Given the description of an element on the screen output the (x, y) to click on. 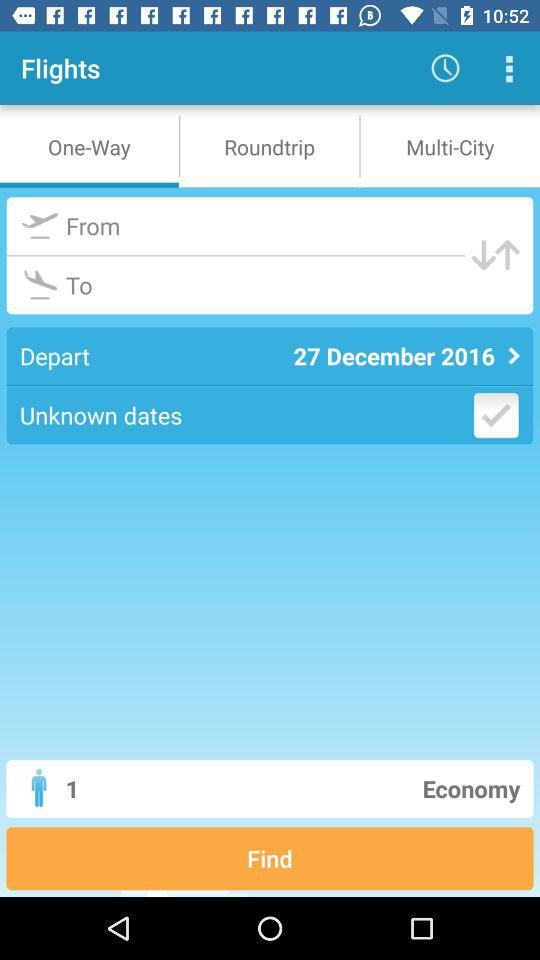
launch the item to the right of the flights icon (444, 67)
